Given the description of an element on the screen output the (x, y) to click on. 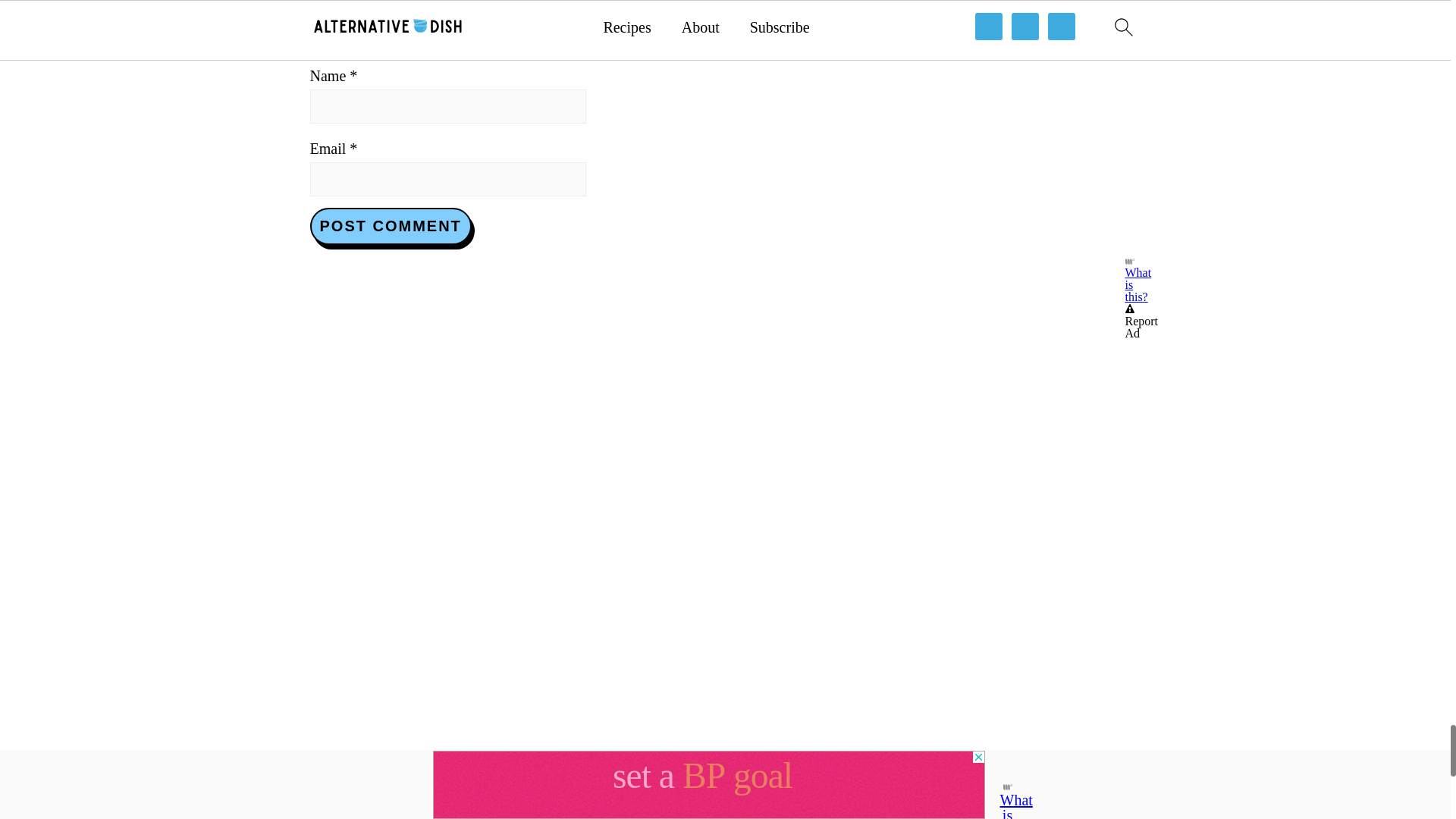
Post Comment (389, 226)
